Given the description of an element on the screen output the (x, y) to click on. 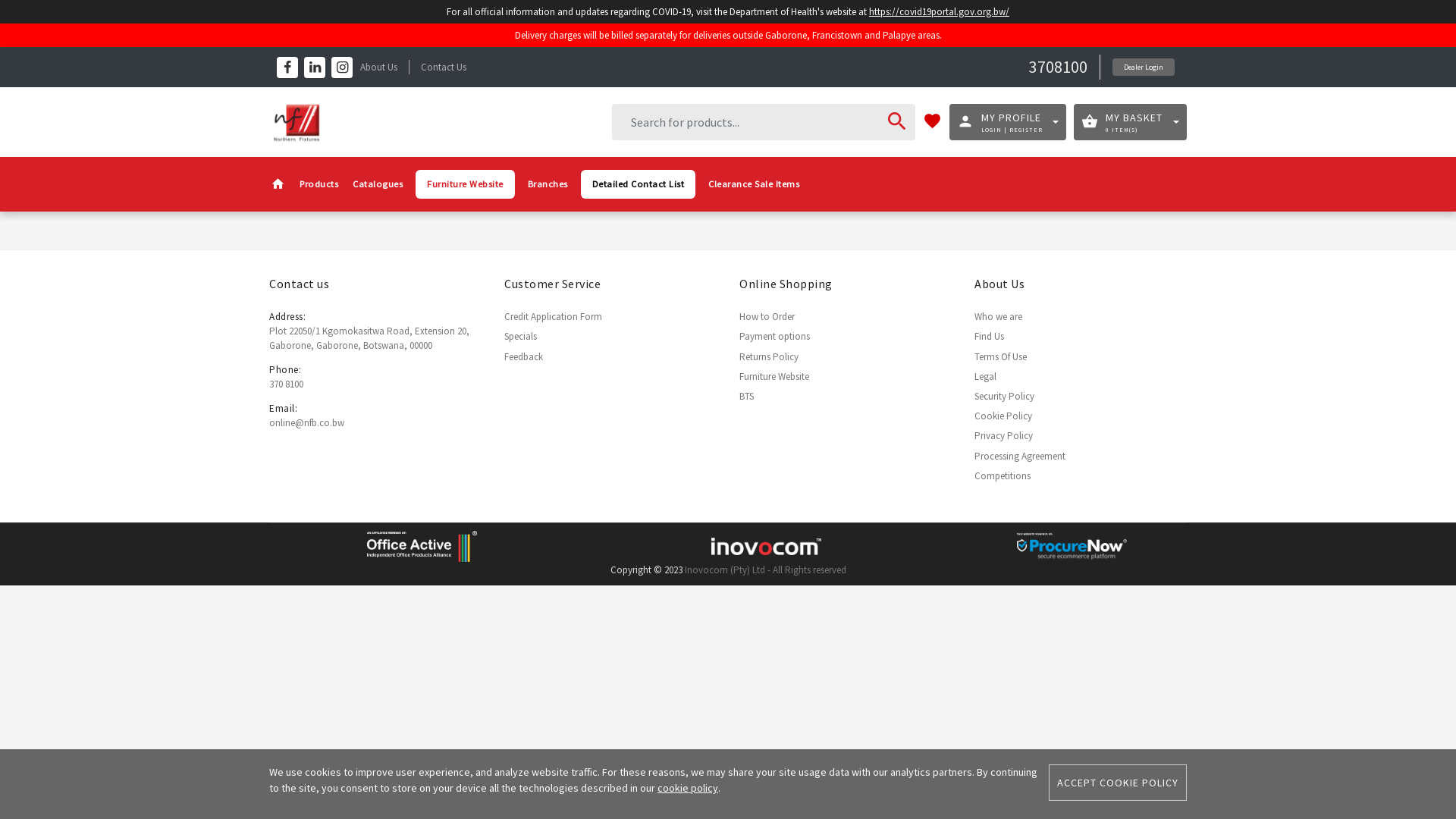
Cookie Policy Element type: text (1003, 415)
ACCEPT COOKIE POLICY Element type: text (1117, 782)
Specials Element type: text (520, 335)
online@nfb.co.bw Element type: text (306, 422)
Instagram Element type: hover (341, 66)
Inovocom (Pty) Ltd - All Rights reserved Element type: text (764, 569)
Processing Agreement Element type: text (1019, 454)
Contact Us Element type: text (443, 67)
favorite Element type: text (789, 121)
Products Element type: text (318, 184)
Catalogues Element type: text (377, 184)
BTS Element type: text (746, 395)
Detailed Contact List Element type: text (638, 184)
cookie policy Element type: text (687, 787)
Branches Element type: text (547, 184)
Payment options Element type: text (774, 335)
Privacy Policy Element type: text (1003, 435)
Linkedin Element type: hover (314, 66)
370 8100 Element type: text (286, 383)
Find Us Element type: text (989, 335)
About Us Element type: text (378, 67)
home Element type: text (277, 184)
Facebook Element type: hover (287, 66)
3708100 Element type: text (1058, 66)
Terms Of Use Element type: text (1000, 356)
Legal Element type: text (985, 376)
Furniture Website Element type: text (464, 184)
Who we are Element type: text (998, 316)
search Element type: text (732, 122)
Security Policy Element type: text (1004, 395)
Feedback Element type: text (523, 356)
Competitions Element type: text (1002, 475)
https://covid19portal.gov.org.bw/ Element type: text (952, 11)
Credit Application Form Element type: text (553, 316)
How to Order Element type: text (766, 316)
Returns Policy Element type: text (768, 356)
Furniture Website Element type: text (774, 376)
shopping_basket
MY BASKET
0 ITEM(S) Element type: text (1035, 121)
Clearance Sale Items Element type: text (753, 184)
person
MY PROFILE
LOGIN | REGISTER Element type: text (897, 121)
